Given the description of an element on the screen output the (x, y) to click on. 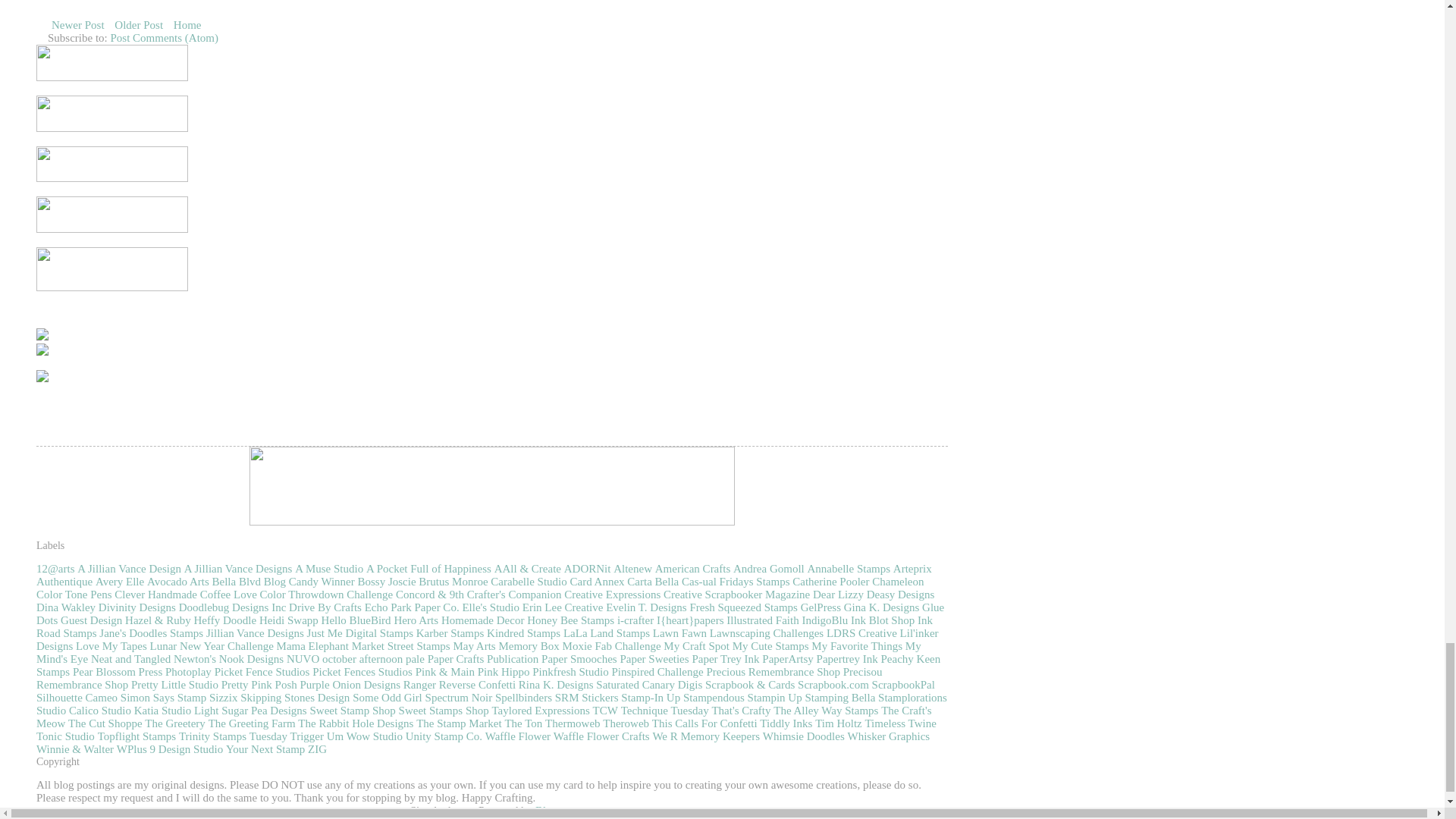
Older Post (138, 25)
Newer Post (77, 25)
Older Post (138, 25)
Home (187, 25)
Newer Post (77, 25)
